Given the description of an element on the screen output the (x, y) to click on. 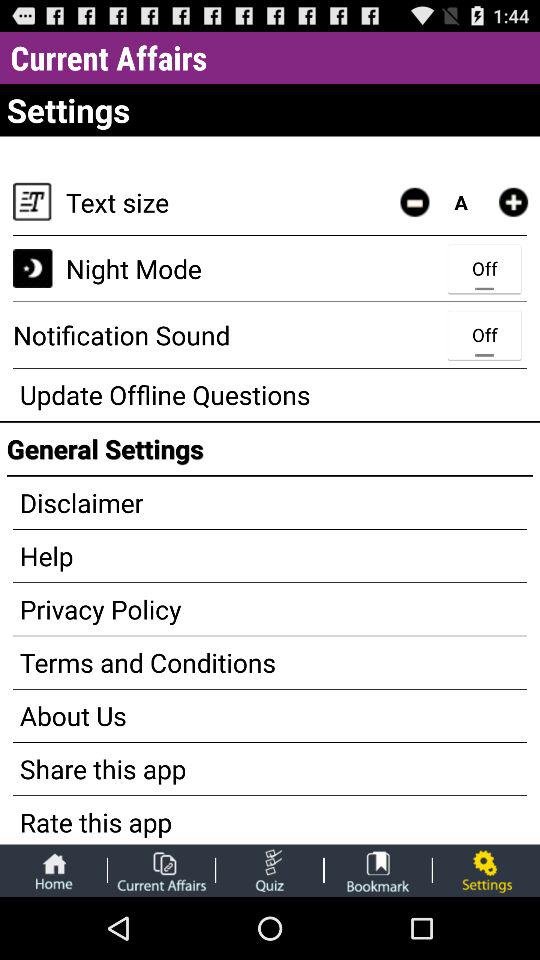
tap icon next to the a item (414, 202)
